Given the description of an element on the screen output the (x, y) to click on. 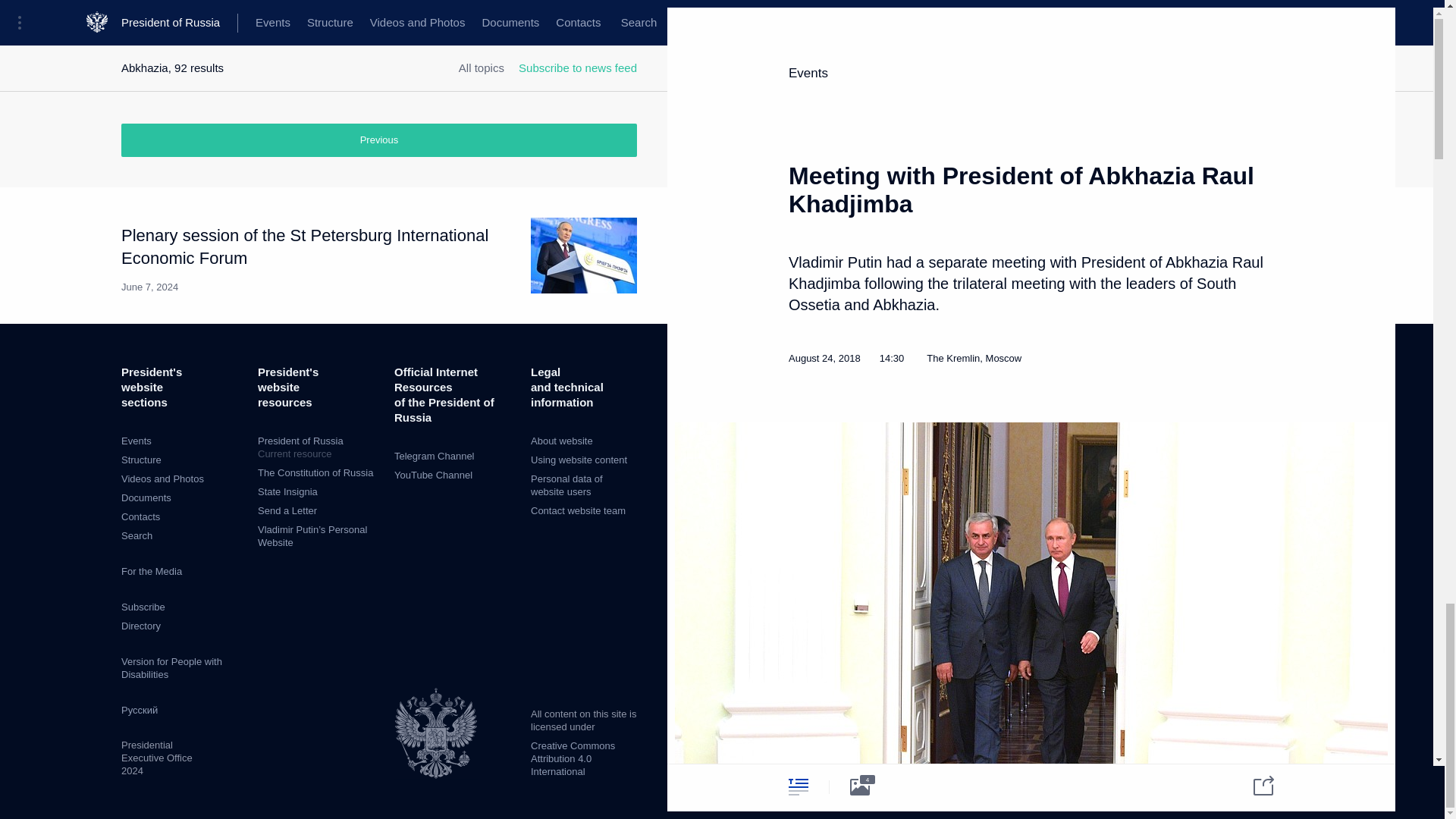
Videos and Photos (161, 478)
Events (135, 440)
Structure (140, 460)
Previous (378, 140)
